Given the description of an element on the screen output the (x, y) to click on. 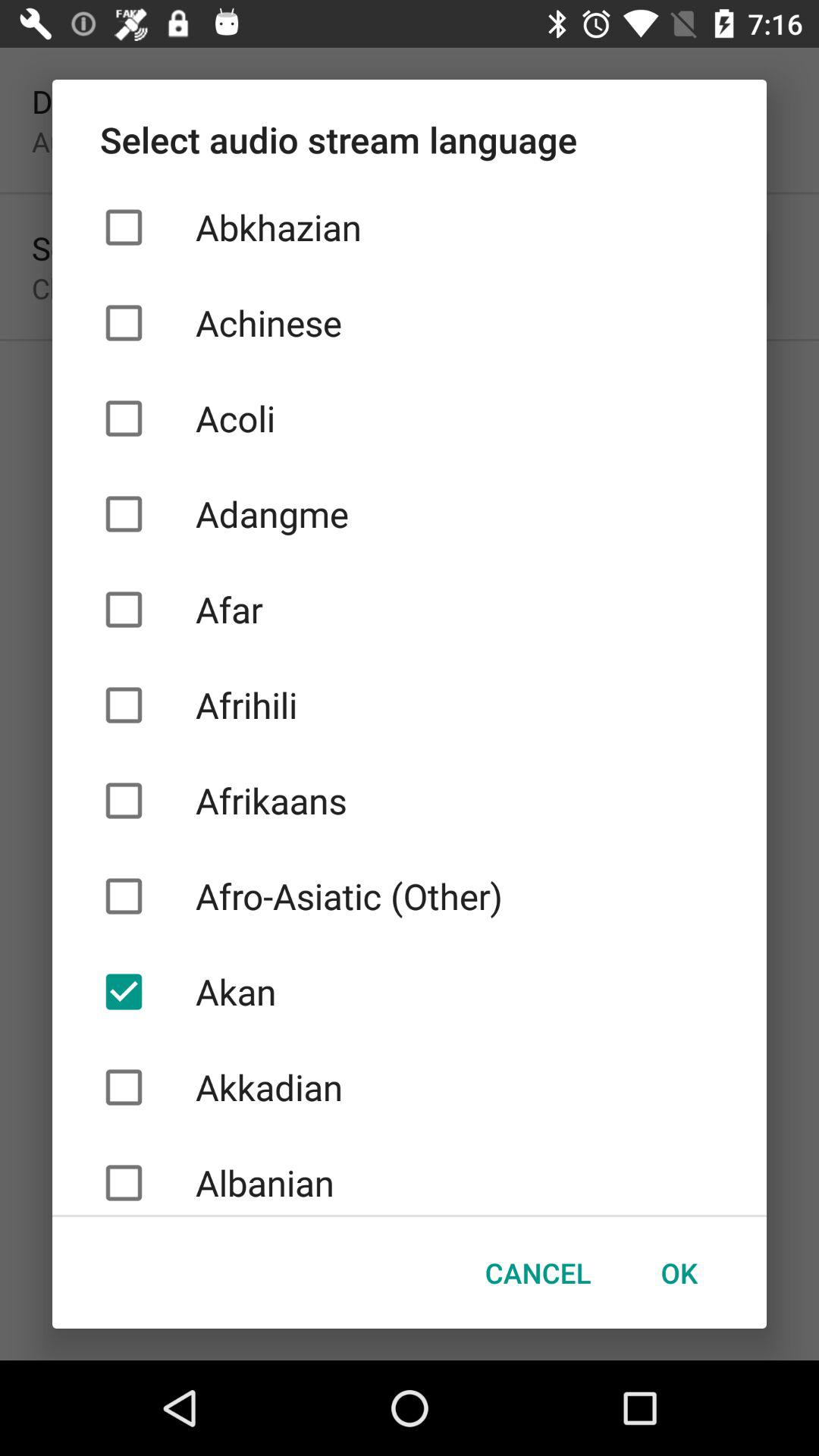
tap checkbox below the albanian (538, 1272)
